Given the description of an element on the screen output the (x, y) to click on. 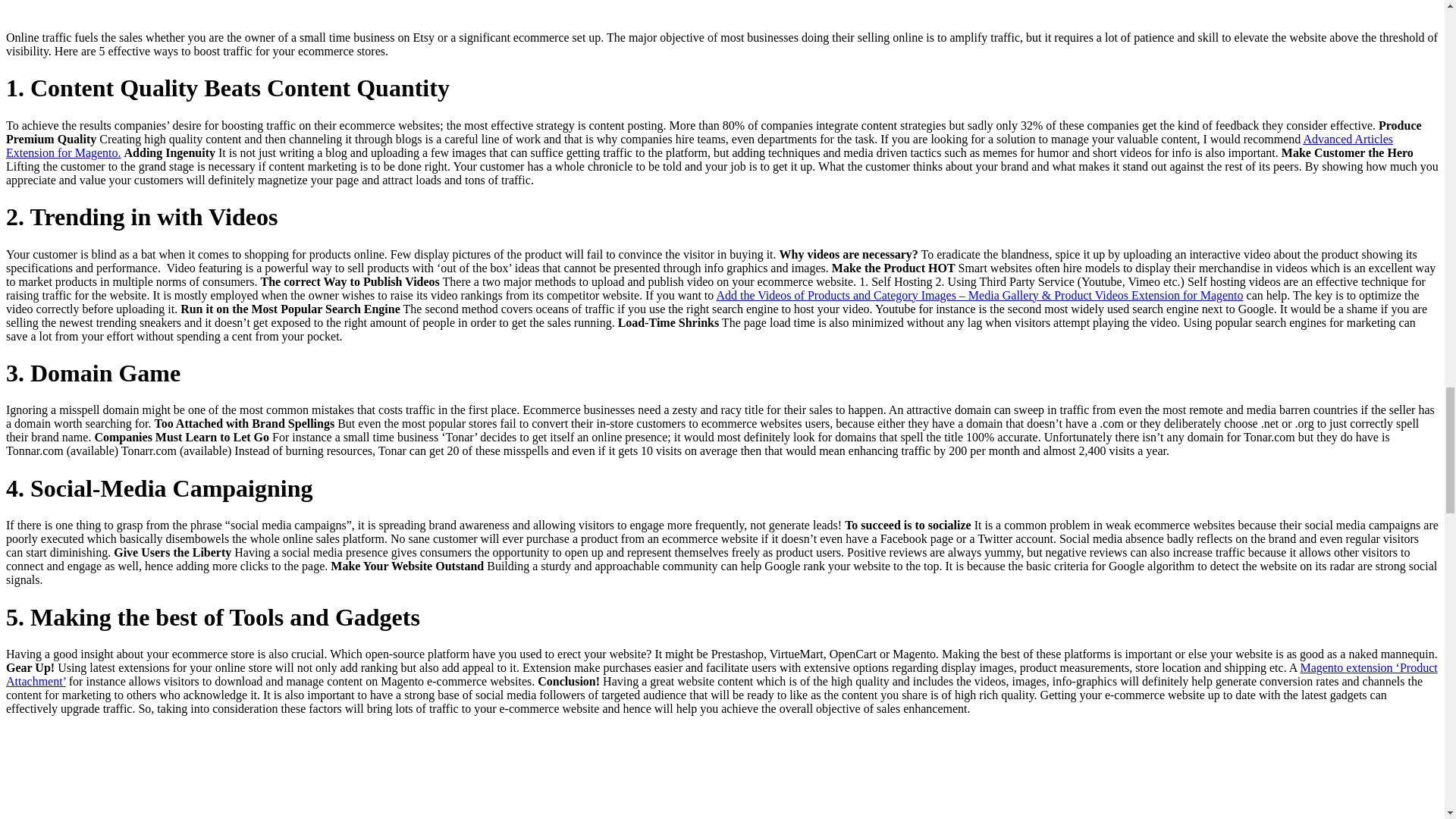
Advanced Articles Extension for Magento. (699, 145)
